Given the description of an element on the screen output the (x, y) to click on. 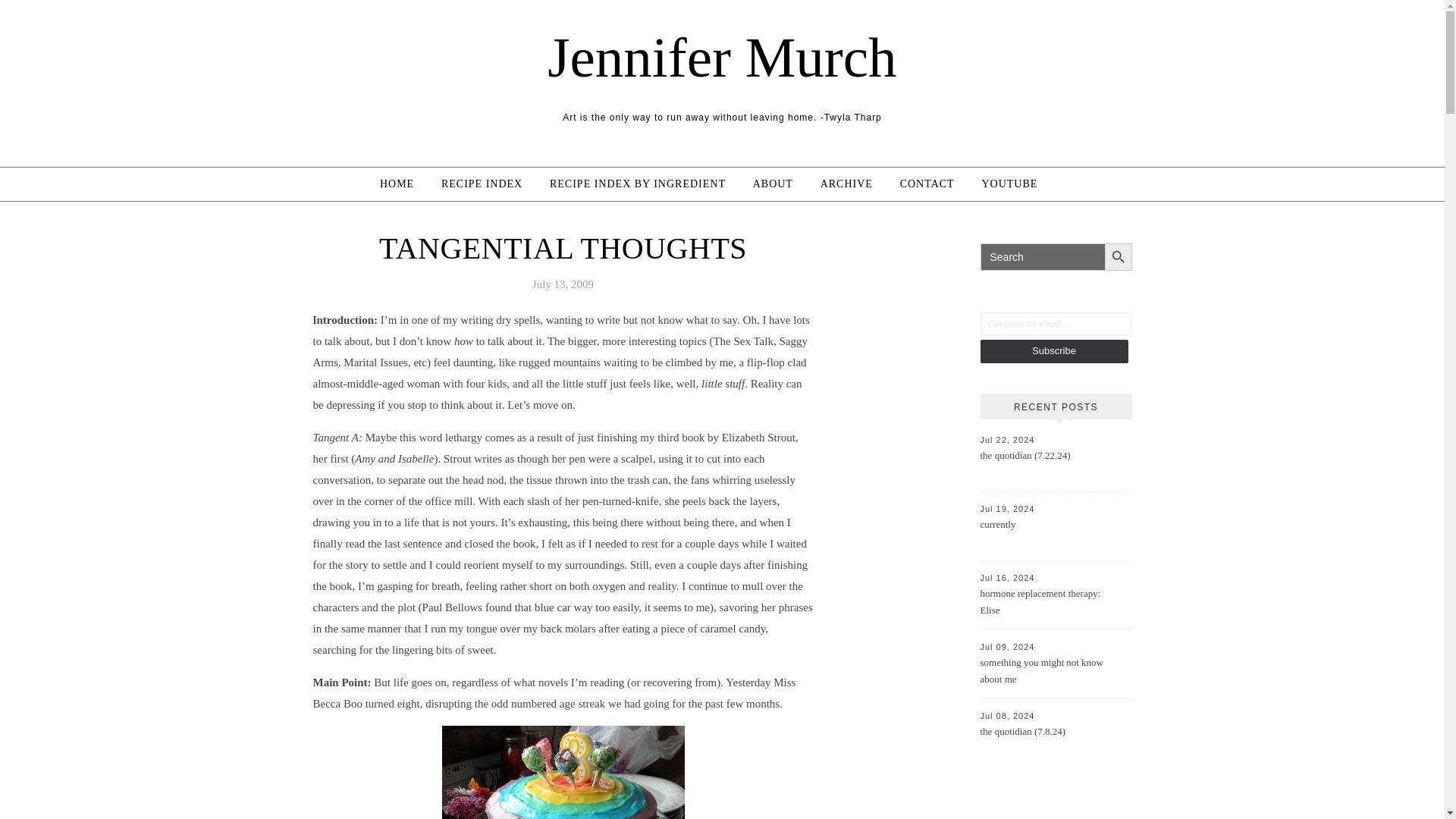
HOME (403, 183)
RECIPE INDEX (481, 183)
ABOUT (773, 183)
YOUTUBE (1009, 183)
Jennifer Murch (721, 56)
Please fill in this field. (1055, 323)
ARCHIVE (846, 183)
CONTACT (927, 183)
RECIPE INDEX BY INGREDIENT (637, 183)
